Given the description of an element on the screen output the (x, y) to click on. 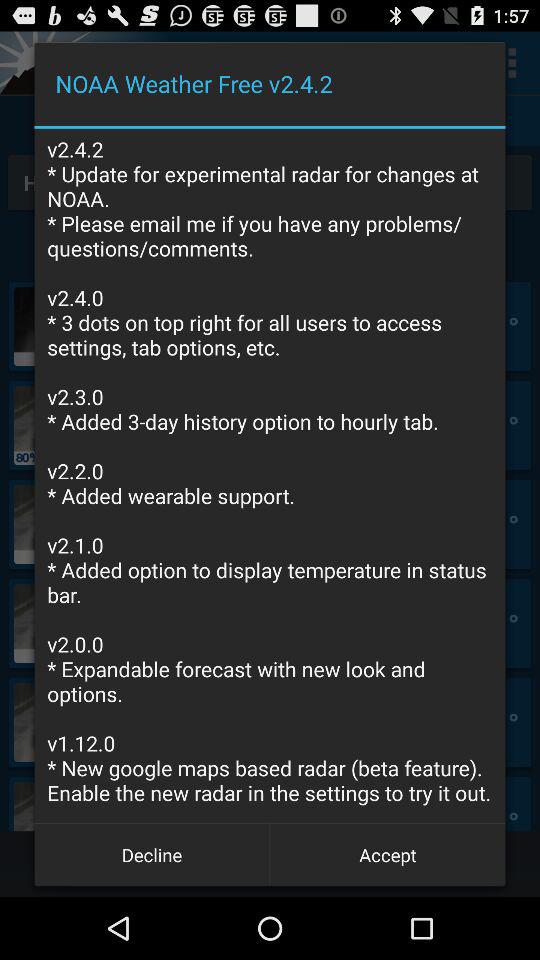
tap button next to accept button (151, 854)
